Given the description of an element on the screen output the (x, y) to click on. 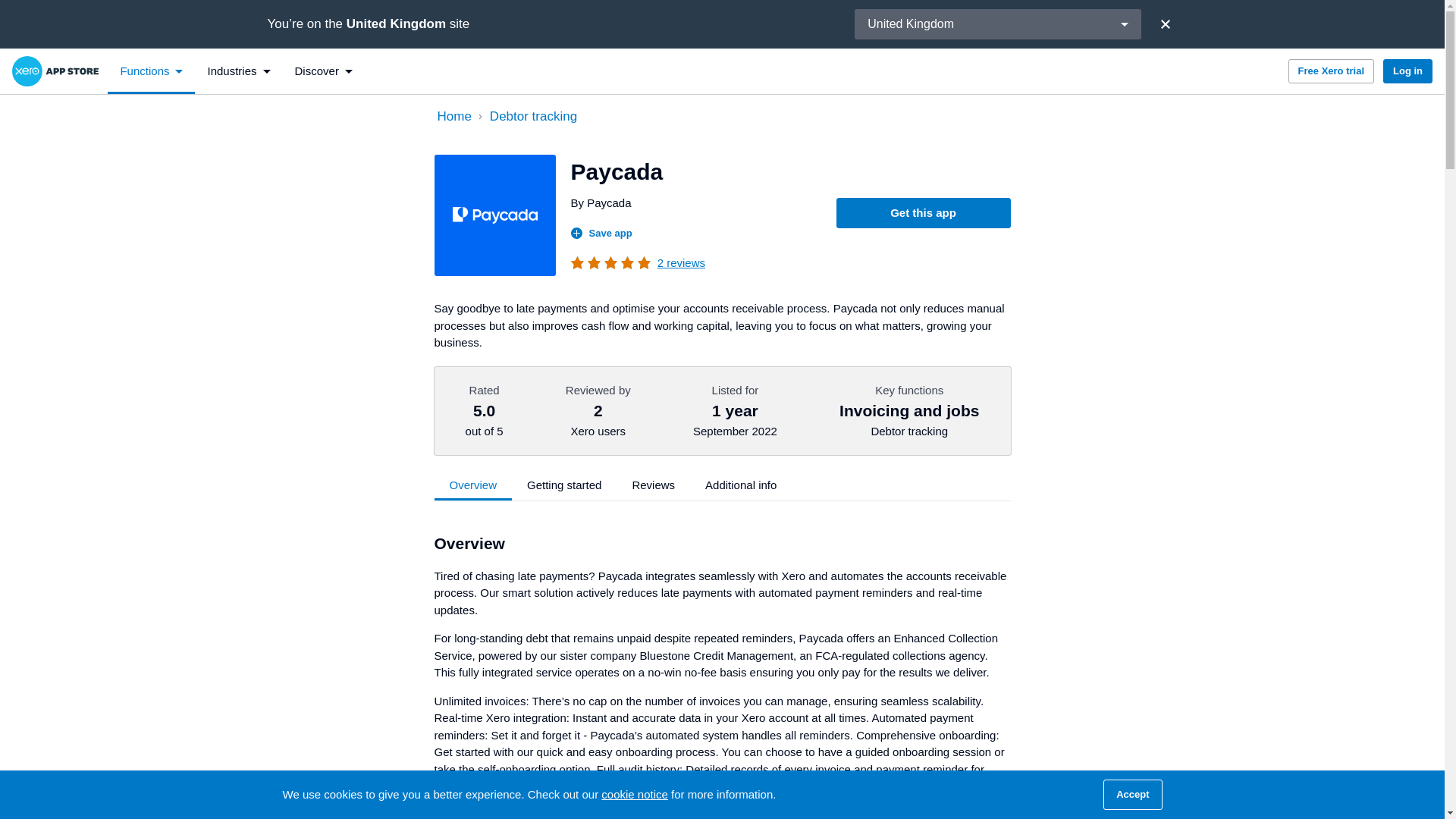
Home (453, 116)
Industries (238, 71)
5 out of 5 stars (611, 263)
Additional info (741, 485)
2 reviews (681, 262)
Save app (600, 233)
Getting started (563, 485)
Free Xero trial (1331, 70)
Debtor tracking (746, 116)
Discover (323, 71)
